Given the description of an element on the screen output the (x, y) to click on. 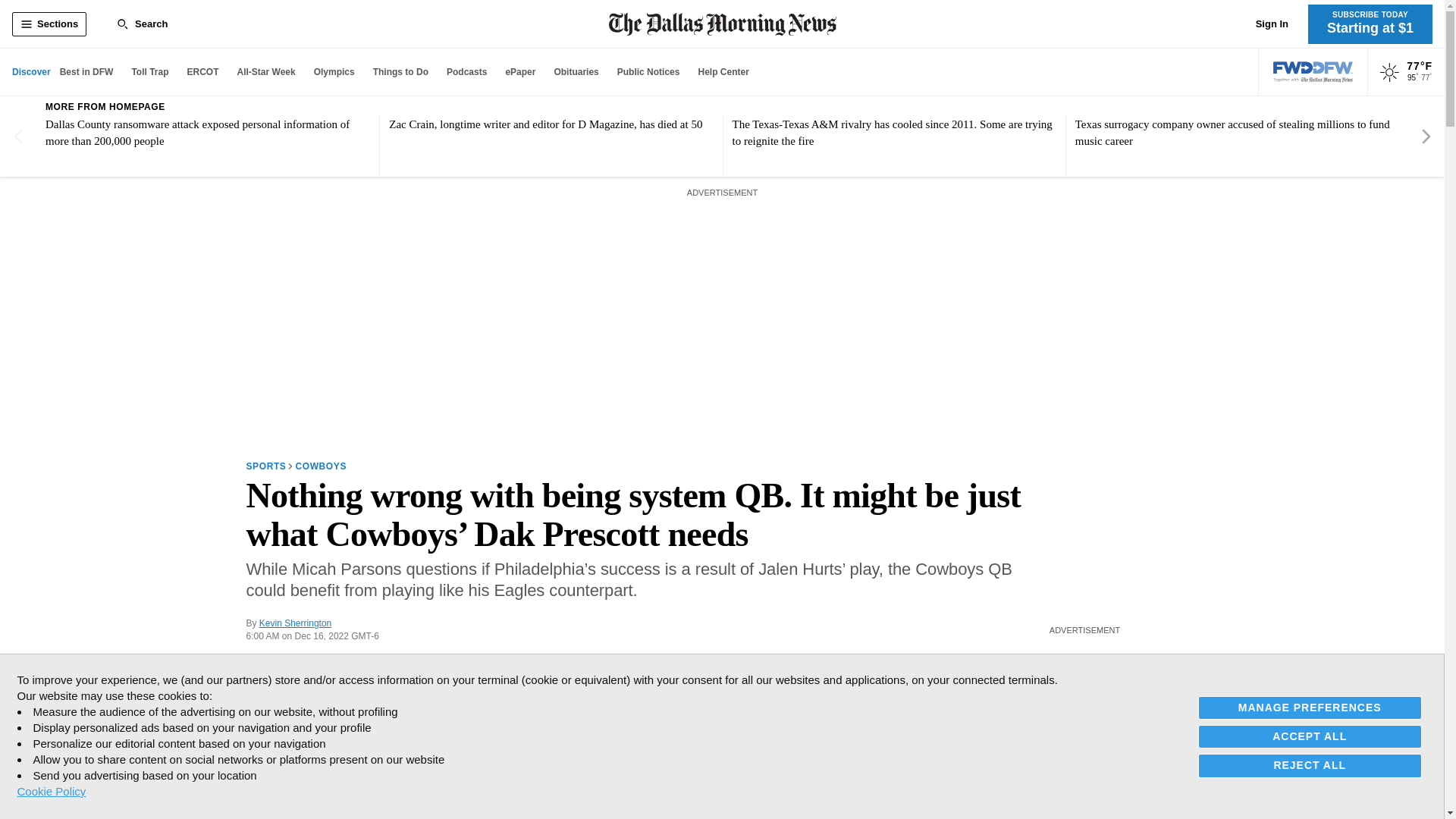
MANAGE PREFERENCES (1310, 707)
Clear sky (1389, 72)
Cookie Policy (50, 790)
FWD DFW, Together with The Dallas Morning News (1313, 72)
REJECT ALL (1310, 765)
ACCEPT ALL (1310, 736)
